Given the description of an element on the screen output the (x, y) to click on. 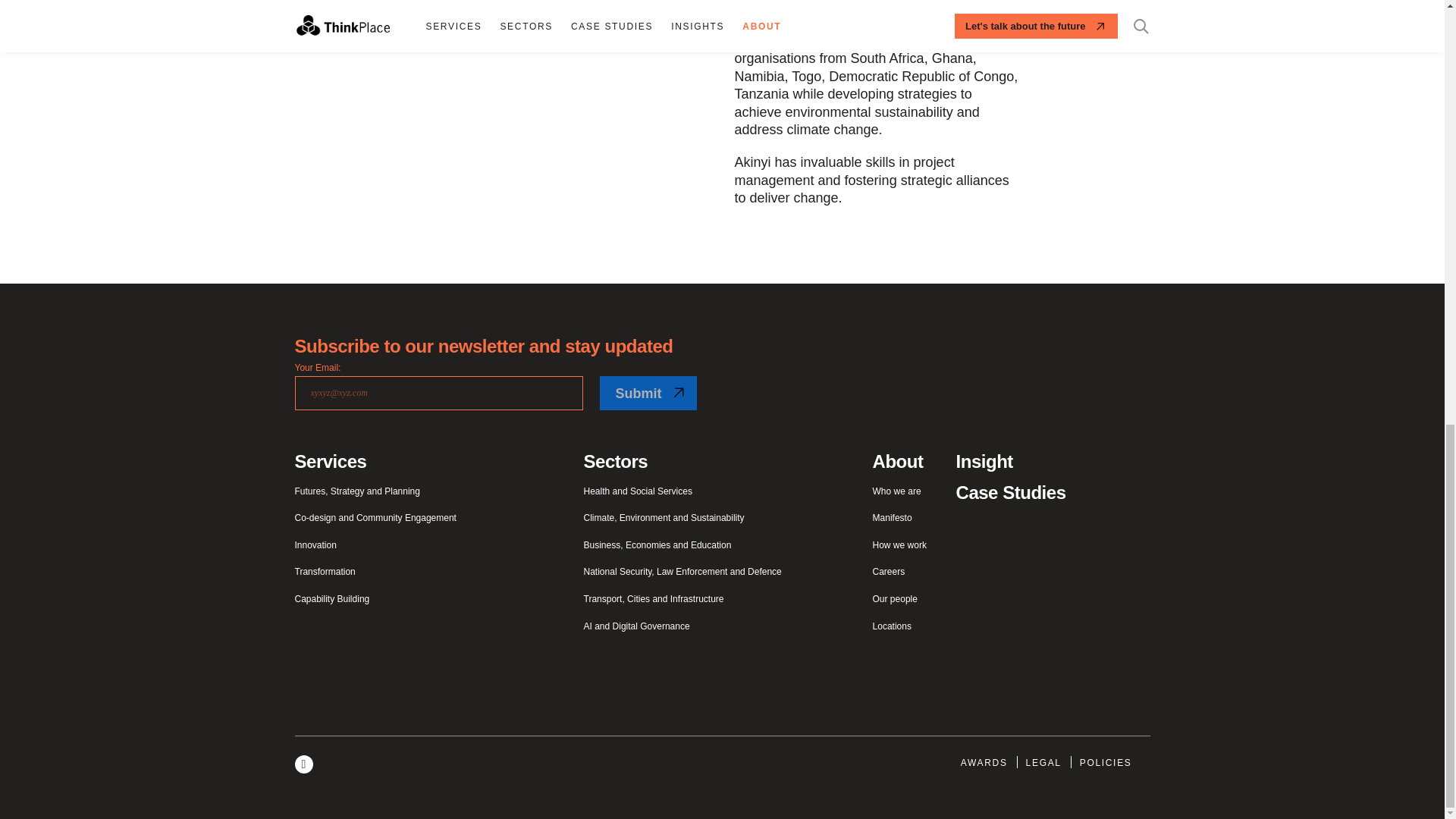
Health and Social Services (638, 491)
Climate, Environment and Sustainability (663, 518)
Futures, Strategy and Planning (356, 491)
Submit (646, 392)
Innovation (315, 545)
Business, Economies and Education (657, 545)
Capability Building (331, 599)
Transformation (324, 572)
Co-design and Community Engagement (374, 518)
